Given the description of an element on the screen output the (x, y) to click on. 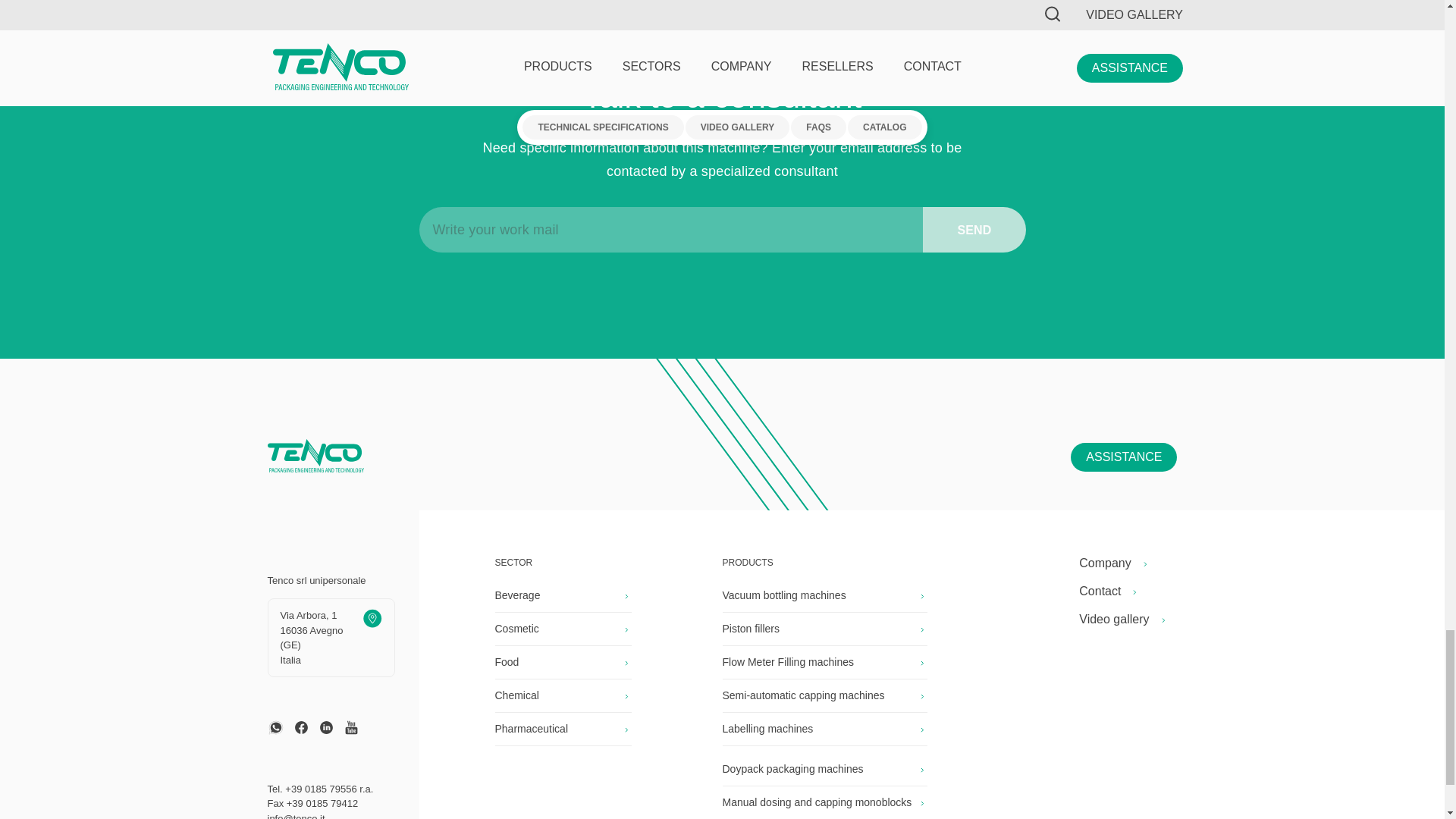
Send (974, 229)
